Given the description of an element on the screen output the (x, y) to click on. 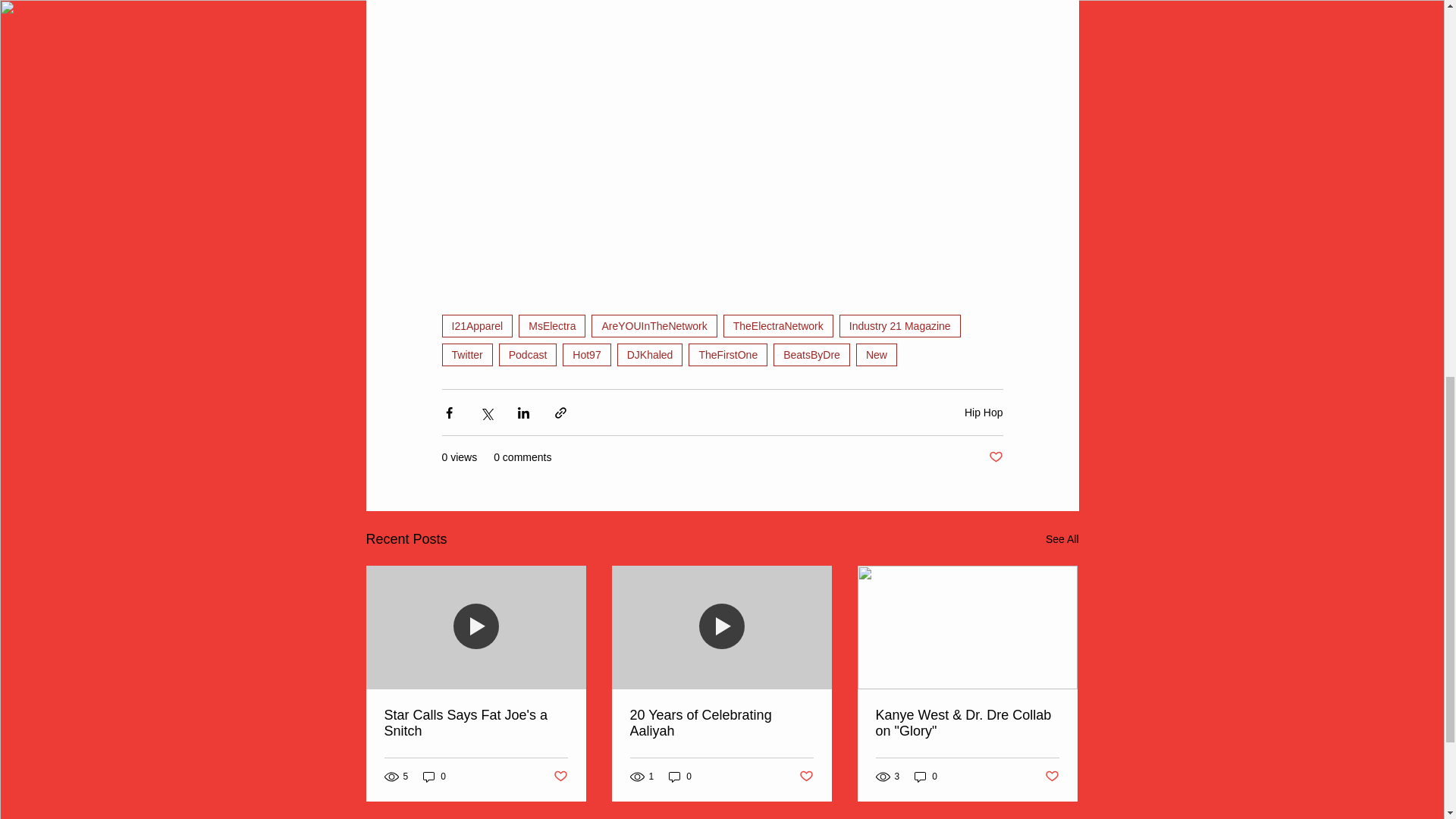
DJKhaled (649, 354)
I21Apparel (476, 325)
Podcast (528, 354)
Twitter (466, 354)
TheFirstOne (727, 354)
Hot97 (586, 354)
BeatsByDre (811, 354)
AreYOUInTheNetwork (653, 325)
Industry 21 Magazine (900, 325)
TheElectraNetwork (777, 325)
